Given the description of an element on the screen output the (x, y) to click on. 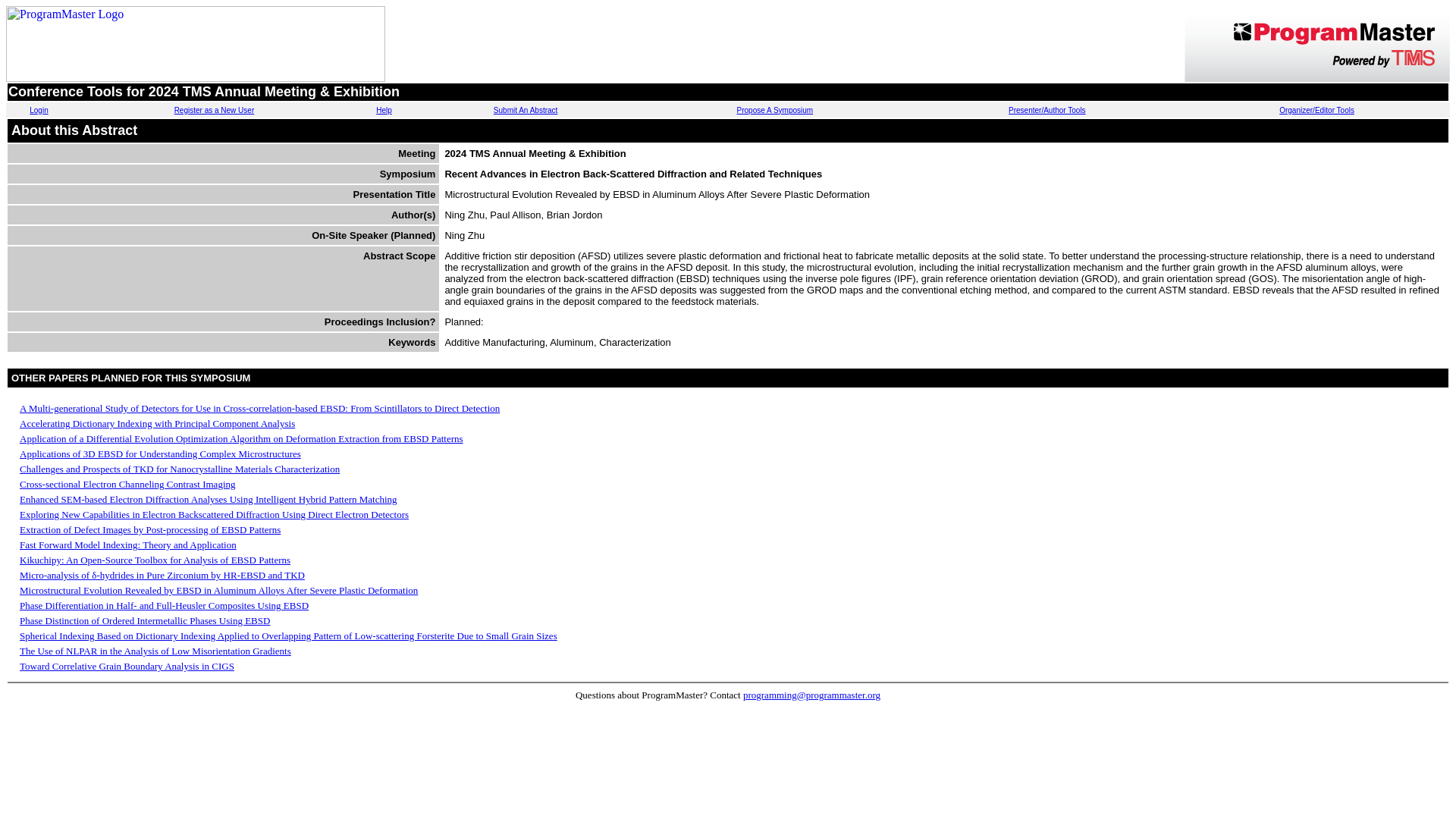
Cross-sectional Electron Channeling Contrast Imaging (127, 483)
Phase Distinction of Ordered Intermetallic Phases Using EBSD (144, 620)
Register as a New User (214, 110)
